Given the description of an element on the screen output the (x, y) to click on. 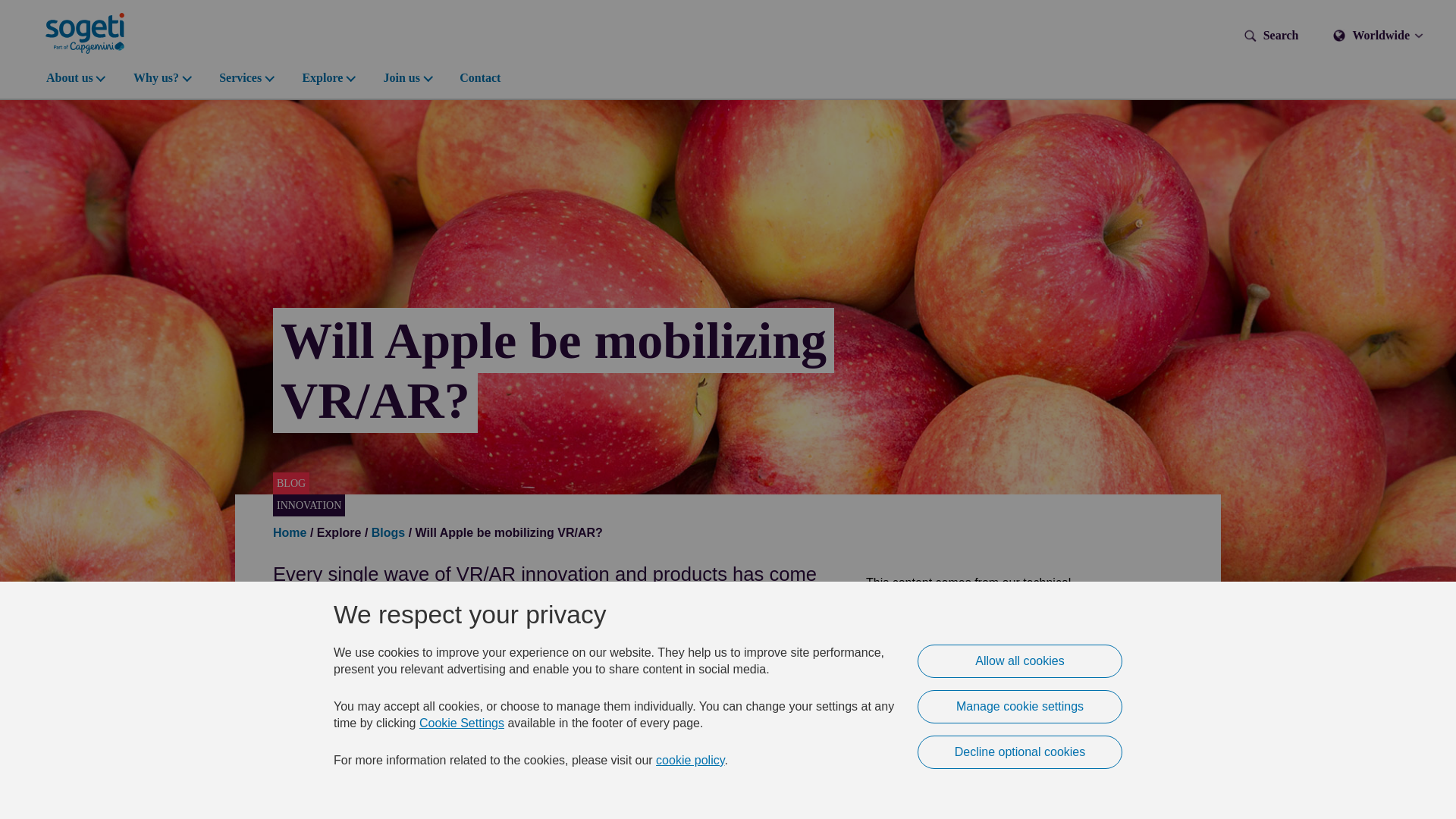
To menu (4, 4)
